Given the description of an element on the screen output the (x, y) to click on. 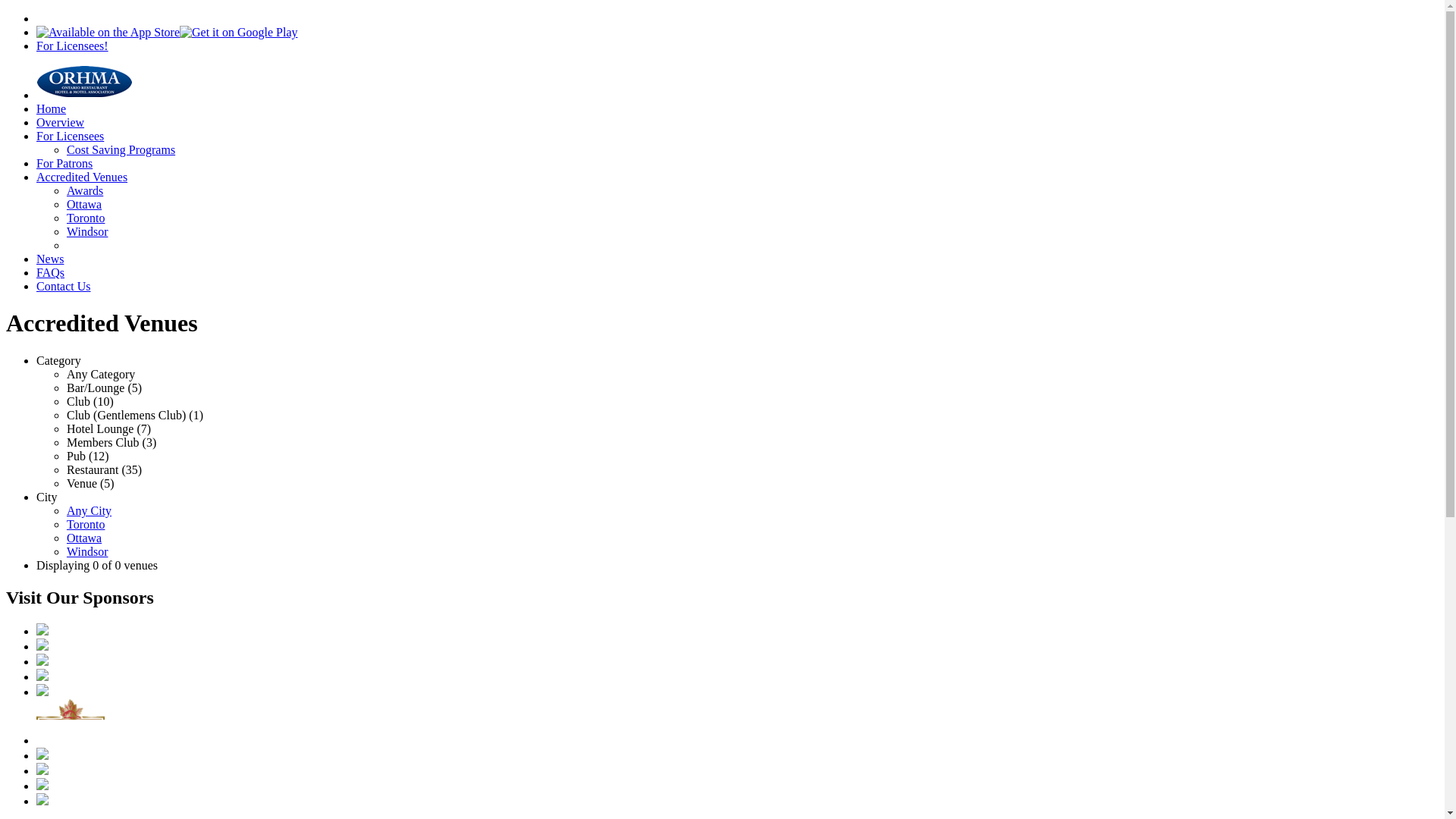
Toronto Element type: text (85, 194)
Toronto Element type: text (85, 500)
For Patrons Element type: text (64, 139)
Overview Element type: text (60, 98)
Wine & Grower Alliance of Ontario Element type: hover (42, 785)
Ontario Craft Brewers Element type: hover (42, 755)
News Element type: text (49, 235)
Accredited Venues Element type: text (81, 153)
For Licensees Element type: text (69, 112)
FAQs Element type: text (50, 248)
Ontario Craft Wineries Element type: hover (42, 770)
Awards Element type: text (84, 166)
Windsor Element type: text (86, 527)
Smart Serve Ontario Element type: hover (42, 661)
Contact Us Element type: text (63, 262)
Labatt Element type: hover (42, 630)
Live Inventory Element type: hover (42, 800)
Sleeman Element type: hover (70, 740)
Windsor Element type: text (86, 207)
Any City Element type: text (88, 486)
Home Element type: text (50, 84)
Get it on Google Play Element type: hover (238, 32)
For Licensees! Element type: text (72, 45)
Molson Coors Canada Element type: hover (42, 646)
Ottawa Element type: text (83, 514)
Ottawa Element type: text (83, 180)
Available on the App Store Element type: hover (107, 32)
Cost Saving Programs Element type: text (120, 125)
The Beer Store Element type: hover (42, 676)
LCBO Element type: hover (42, 691)
